Given the description of an element on the screen output the (x, y) to click on. 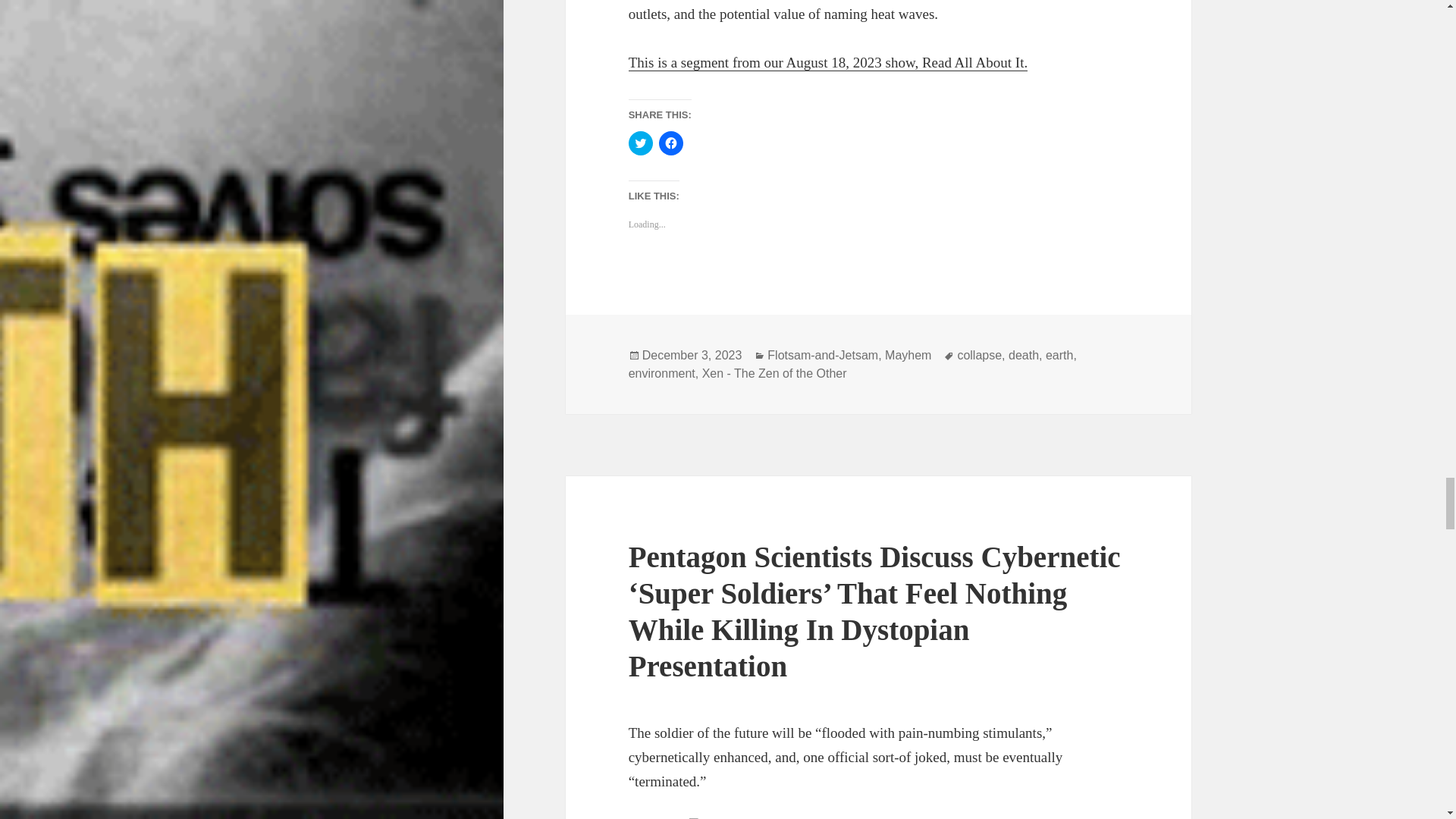
Click to share on Facebook (670, 143)
Click to share on Twitter (640, 143)
